Given the description of an element on the screen output the (x, y) to click on. 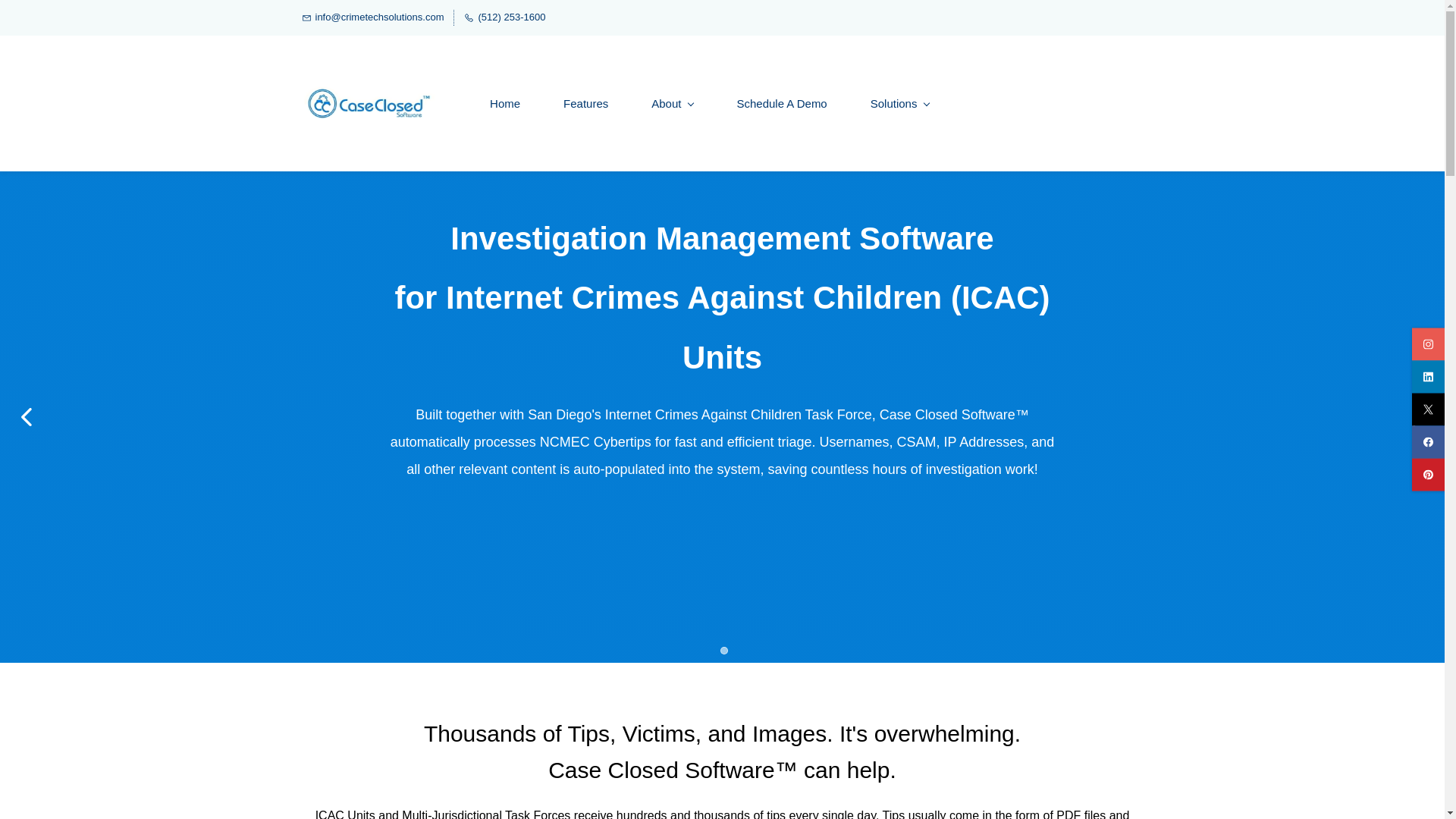
Features (585, 103)
Schedule A Demo (780, 103)
Solutions (900, 103)
Home (504, 103)
About (671, 103)
